Given the description of an element on the screen output the (x, y) to click on. 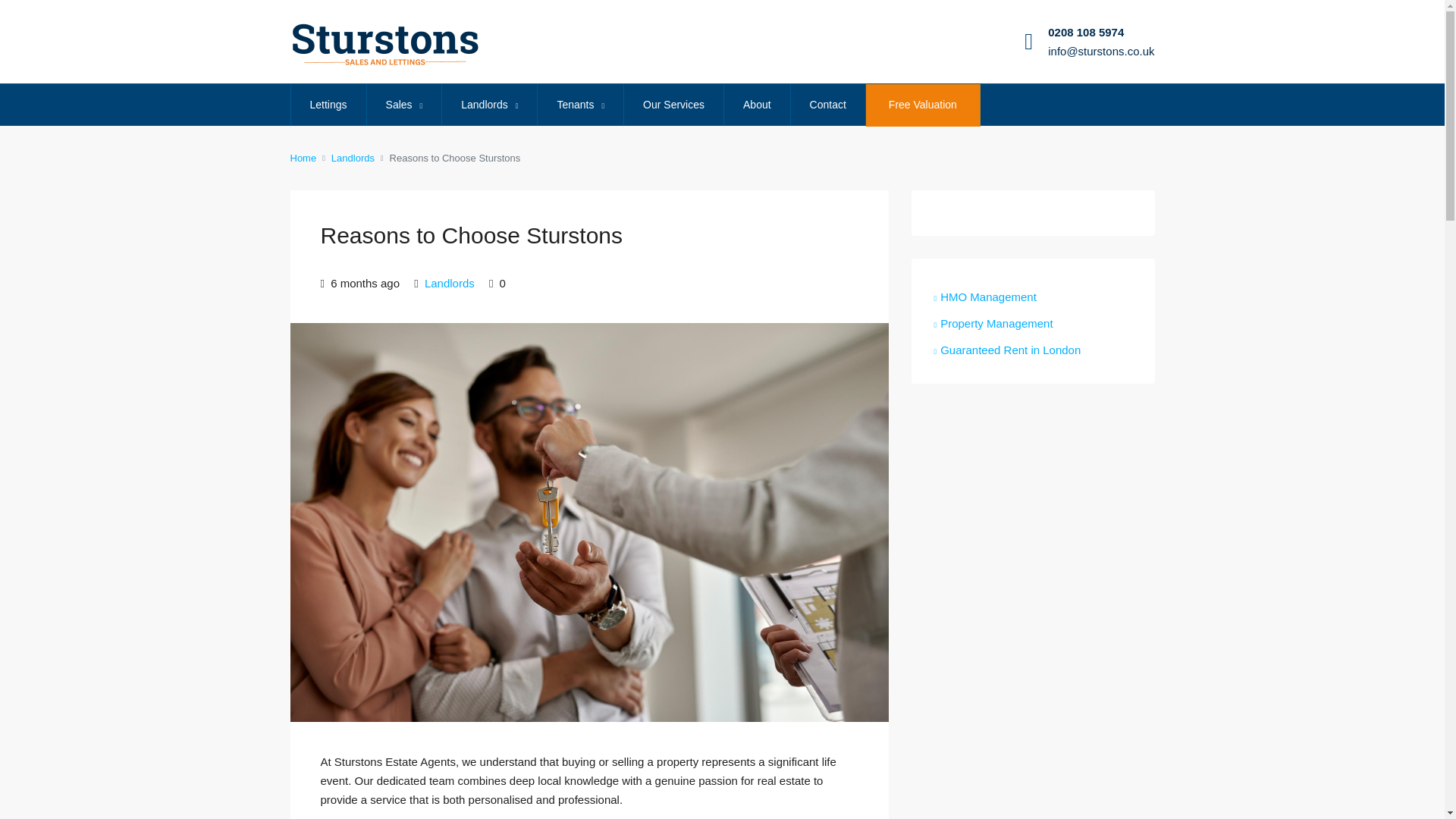
Sales (404, 105)
Lettings (328, 104)
Free Valuation (922, 104)
Our Services (673, 104)
Home (302, 157)
About (756, 104)
Landlords (489, 105)
0208 108 5974 (1086, 31)
Contact (827, 104)
Tenants (580, 105)
